Given the description of an element on the screen output the (x, y) to click on. 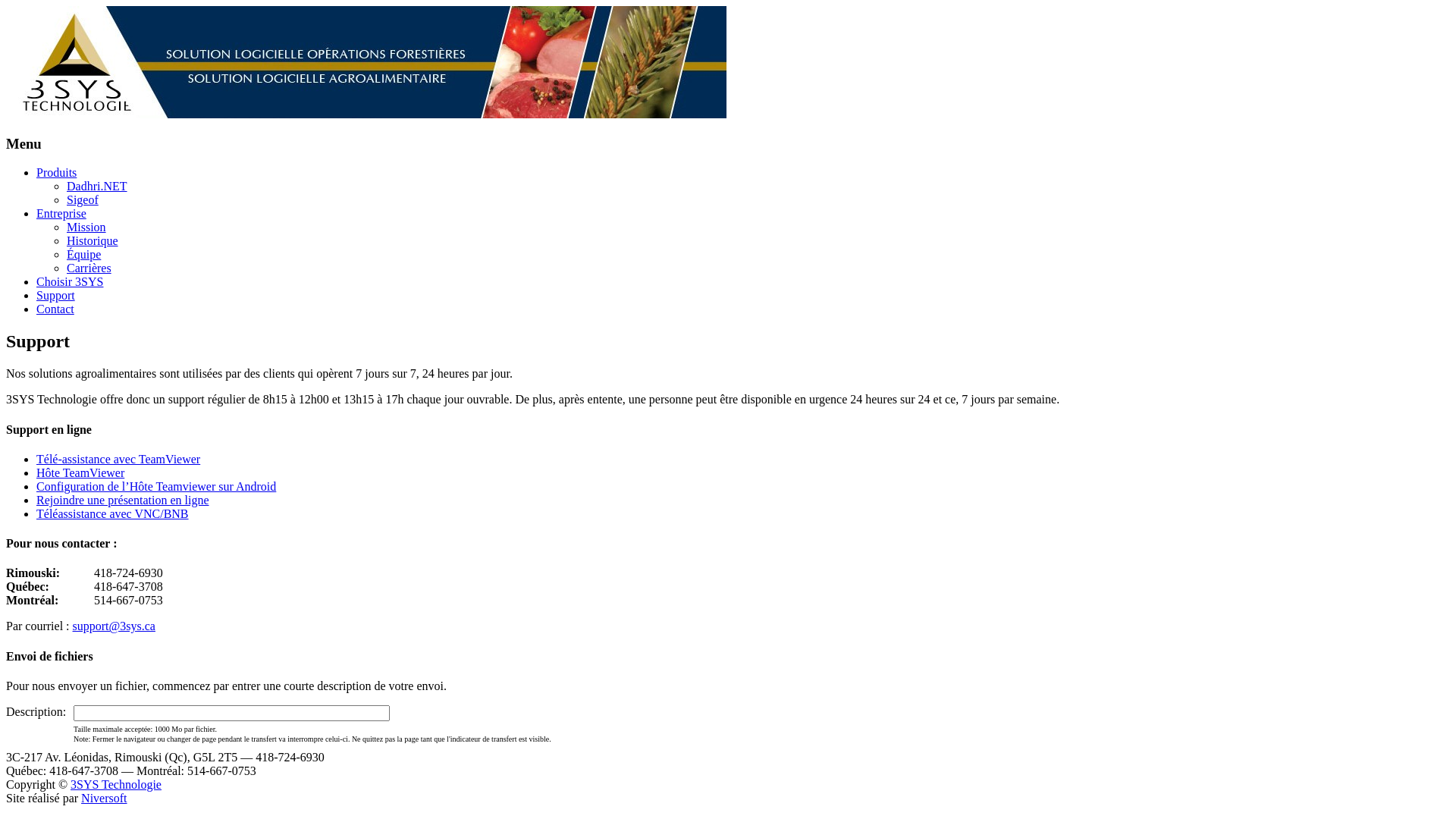
support@3sys.ca Element type: text (113, 625)
Mission Element type: text (86, 226)
Produits Element type: text (56, 172)
Contact Element type: text (55, 308)
Sigeof Element type: text (82, 199)
Dadhri.NET Element type: text (96, 185)
Niversoft Element type: text (103, 797)
Support Element type: text (55, 294)
Entreprise Element type: text (61, 213)
Historique Element type: text (92, 240)
Choisir 3SYS Element type: text (69, 281)
3SYS Technologie Element type: text (115, 784)
